Given the description of an element on the screen output the (x, y) to click on. 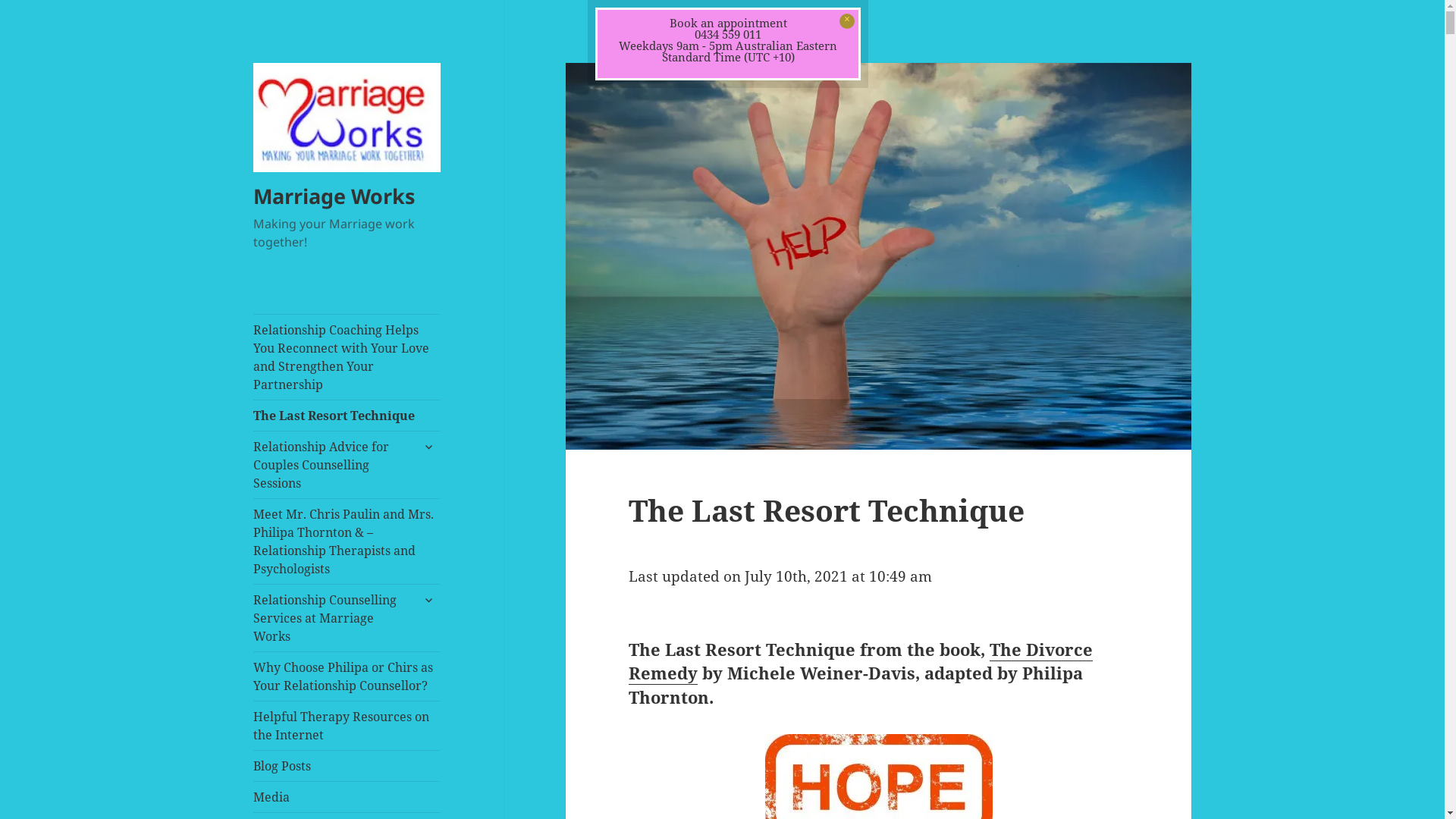
expand child menu Element type: text (428, 446)
Helpful Therapy Resources on the Internet Element type: text (347, 725)
Relationship Advice for Couples Counselling Sessions Element type: text (347, 464)
Relationship Counselling Services at Marriage Works Element type: text (347, 617)
0434 559 011 Element type: text (727, 33)
expand child menu Element type: text (428, 599)
Marriage Works Element type: text (333, 196)
Blog Posts Element type: text (347, 765)
The Divorce Remedy Element type: text (860, 660)
Media Element type: text (347, 796)
Why Choose Philipa or Chirs as Your Relationship Counsellor? Element type: text (347, 676)
The Last Resort Technique Element type: text (347, 415)
